Given the description of an element on the screen output the (x, y) to click on. 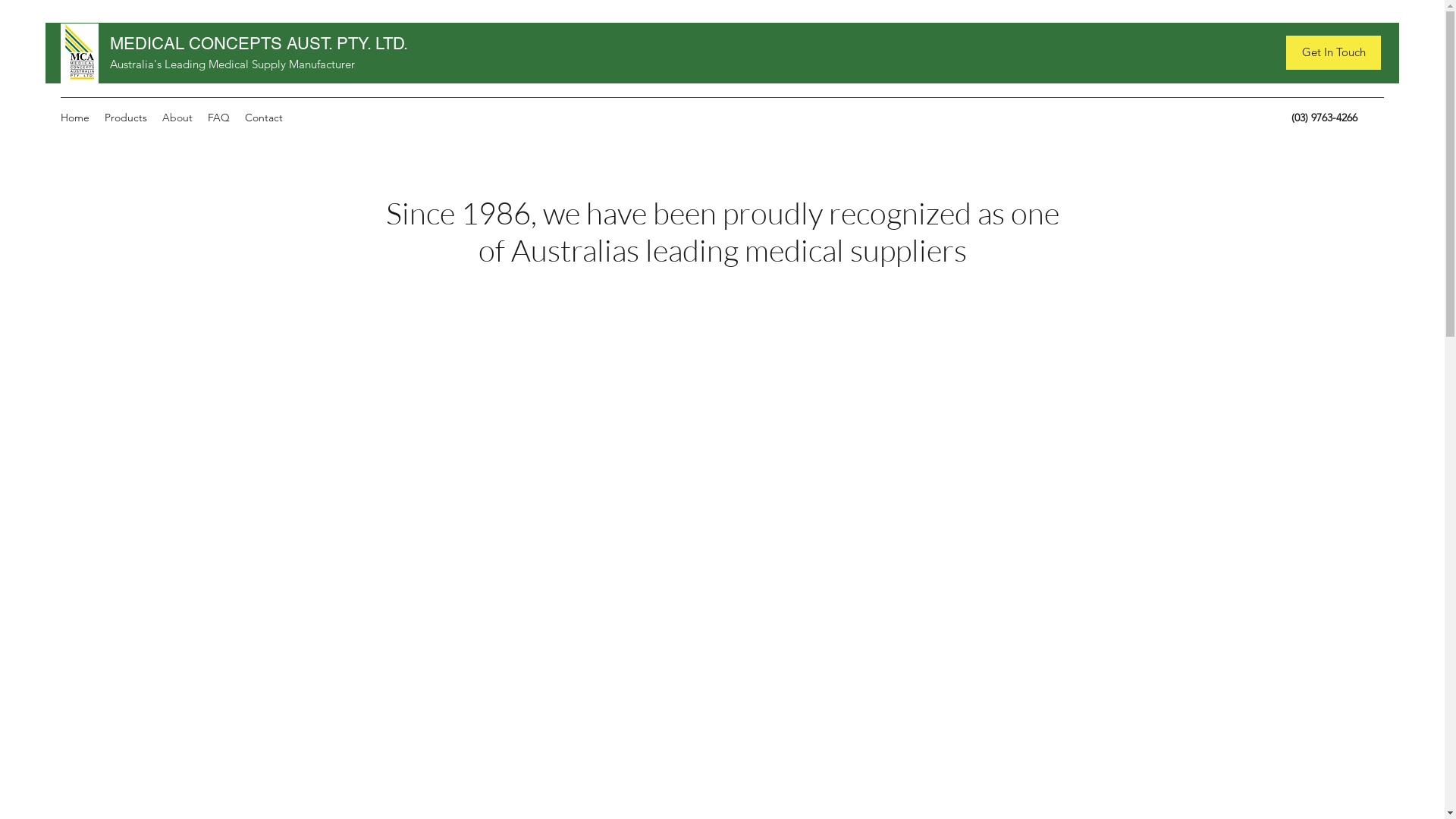
Products Element type: text (125, 117)
MEDICAL CONCEPTS AUST. PTY. LTD. Element type: text (258, 43)
About Element type: text (177, 117)
Contact Element type: text (263, 117)
Home Element type: text (75, 117)
FAQ Element type: text (218, 117)
